Given the description of an element on the screen output the (x, y) to click on. 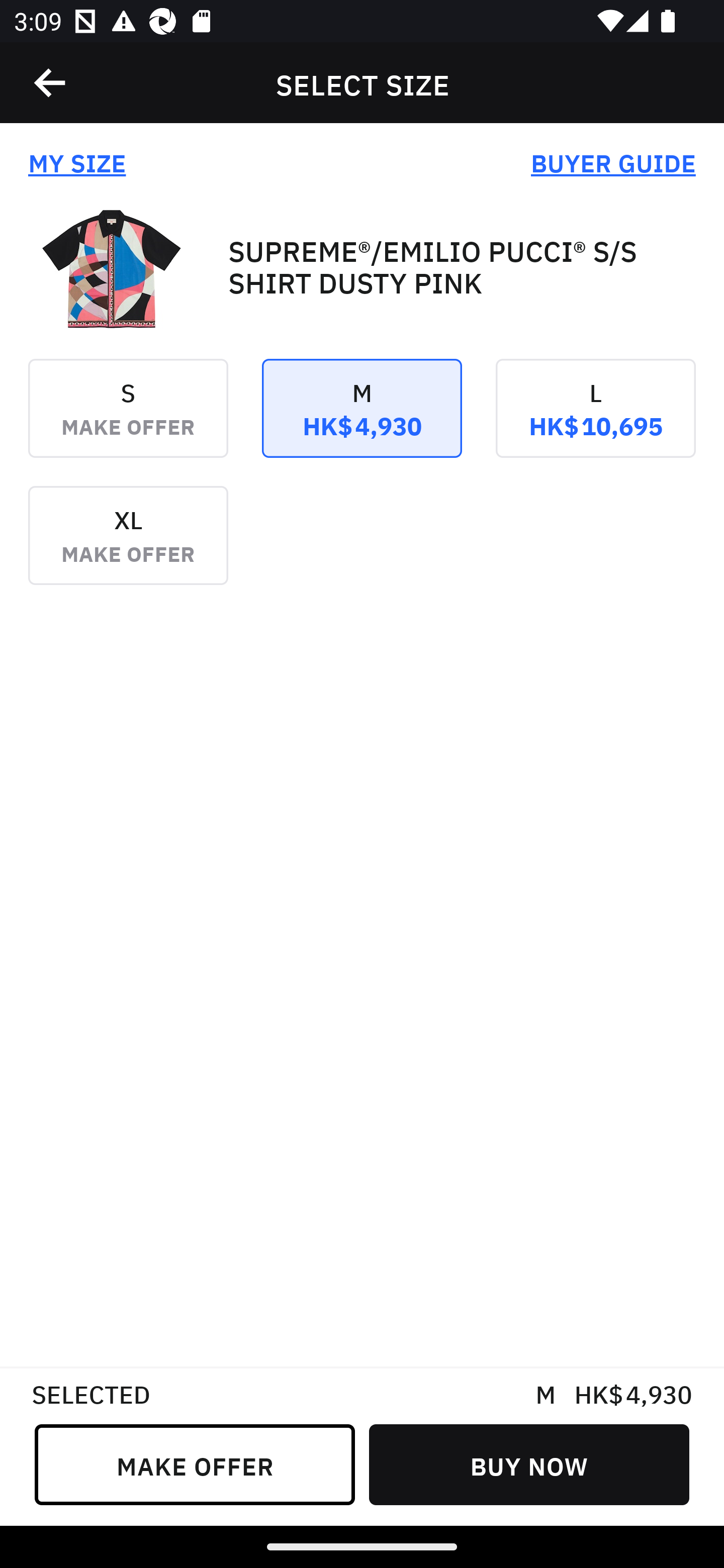
 (50, 83)
S MAKE OFFER (128, 422)
M HK$ 4,930 (361, 422)
L HK$ 10,695 (595, 422)
XL MAKE OFFER (128, 549)
MAKE OFFER (194, 1464)
BUY NOW (529, 1464)
